Given the description of an element on the screen output the (x, y) to click on. 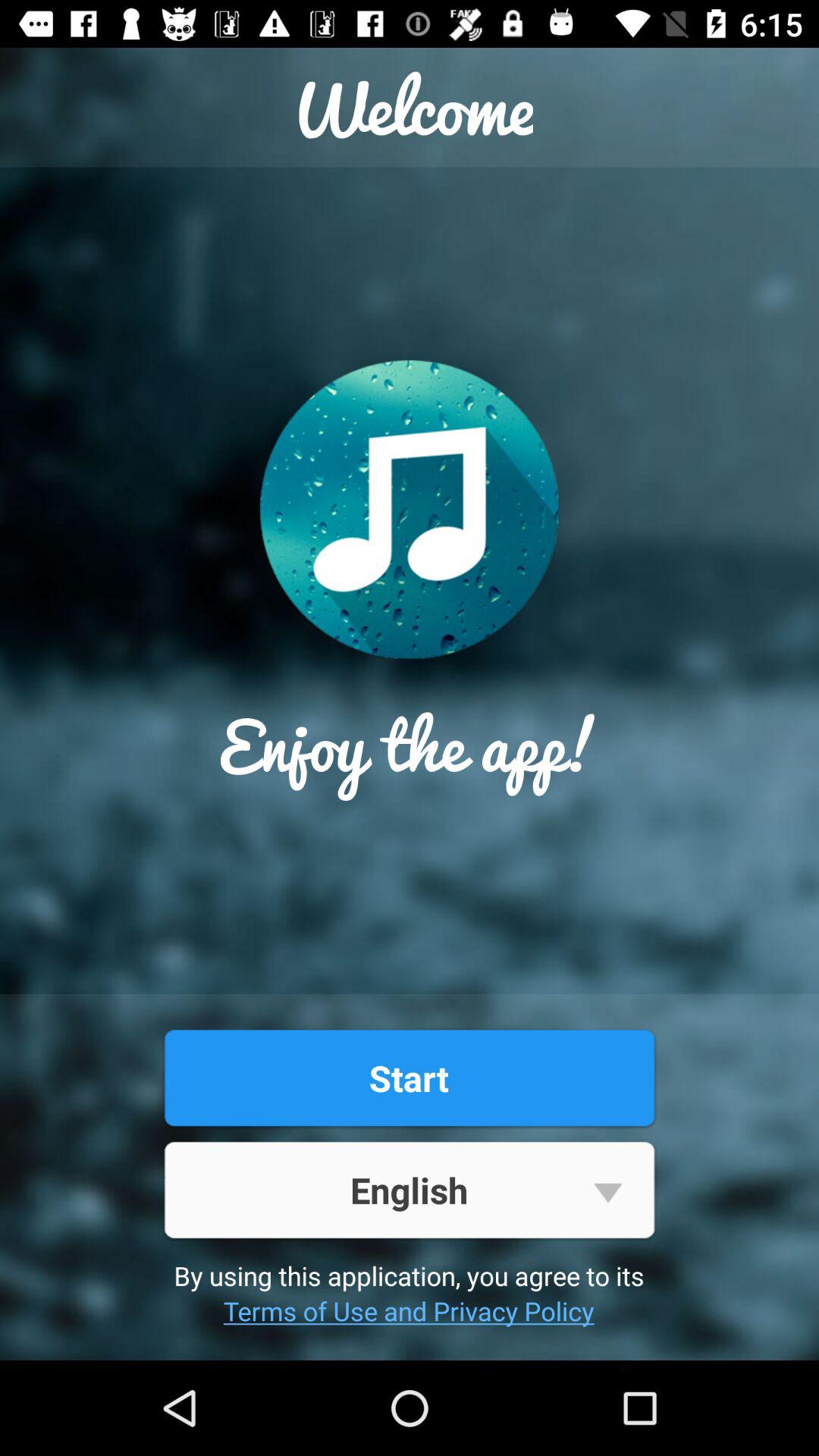
turn off item below the enjoy the app! (409, 1078)
